Given the description of an element on the screen output the (x, y) to click on. 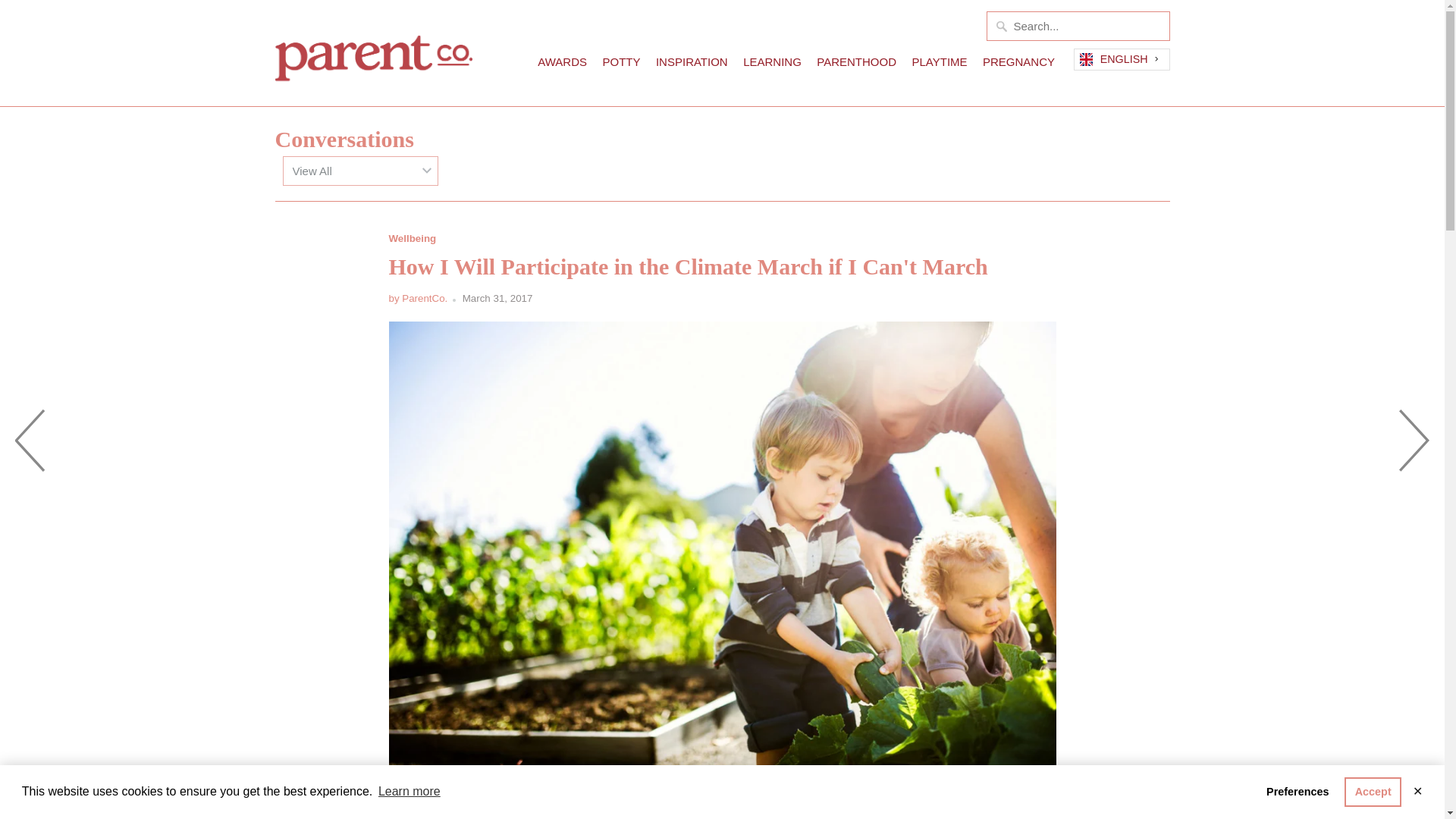
PARENTHOOD (856, 65)
Conversations (344, 138)
POTTY (621, 65)
LEARNING (772, 65)
ENGLISH (1121, 59)
PLAYTIME (938, 65)
AWARDS (561, 65)
by ParentCo. (417, 297)
Learn more (408, 791)
Preferences (1297, 791)
Conversations tagged Wellbeing (411, 238)
Conversations (344, 138)
INSPIRATION (692, 65)
Accept (1371, 791)
PREGNANCY (1018, 65)
